Given the description of an element on the screen output the (x, y) to click on. 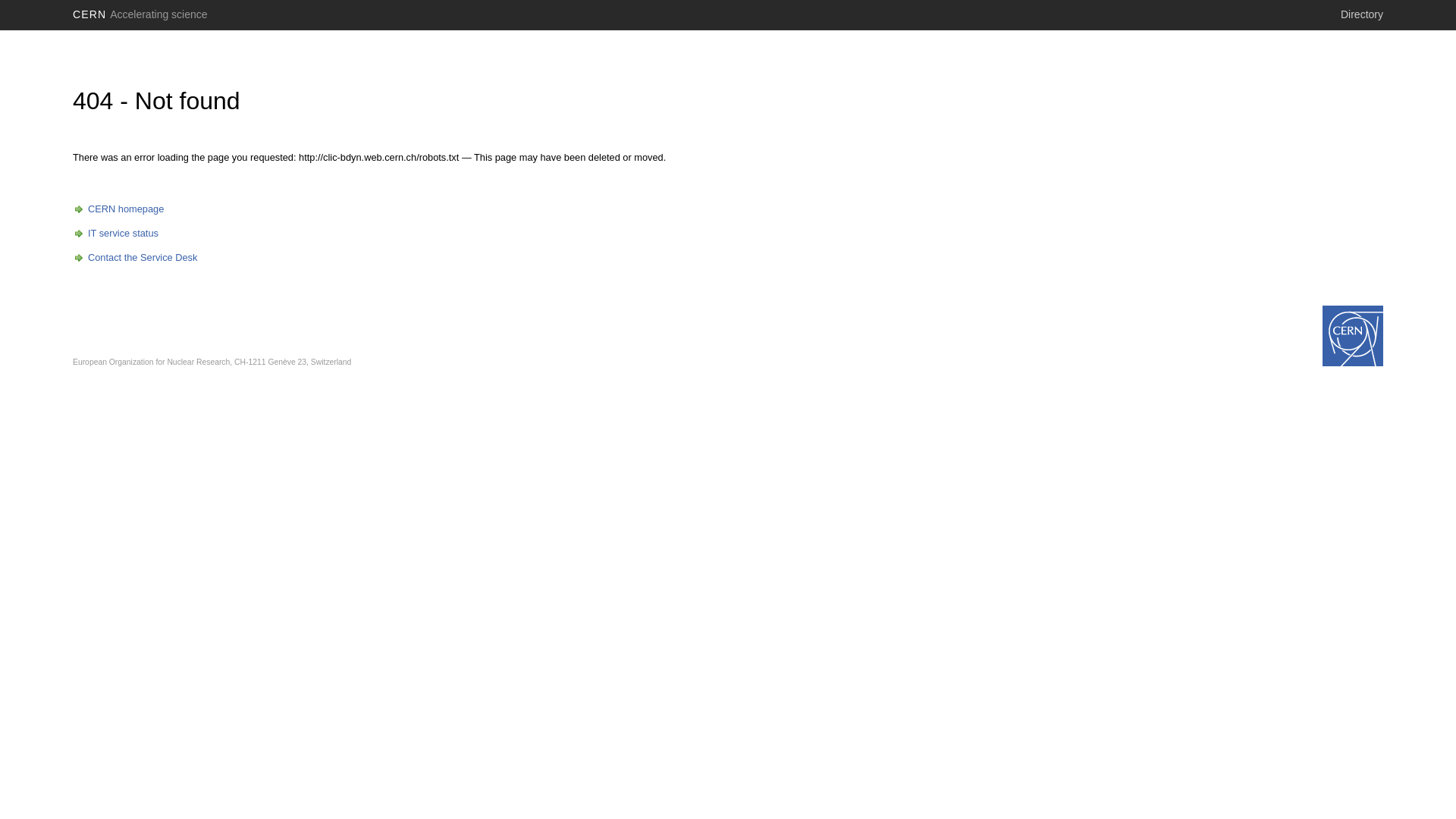
home.cern Element type: hover (1352, 335)
Directory Element type: text (1361, 14)
Contact the Service Desk Element type: text (134, 257)
CERN homepage Element type: text (117, 208)
CERN Accelerating science Element type: text (139, 14)
IT service status Element type: text (115, 232)
